Given the description of an element on the screen output the (x, y) to click on. 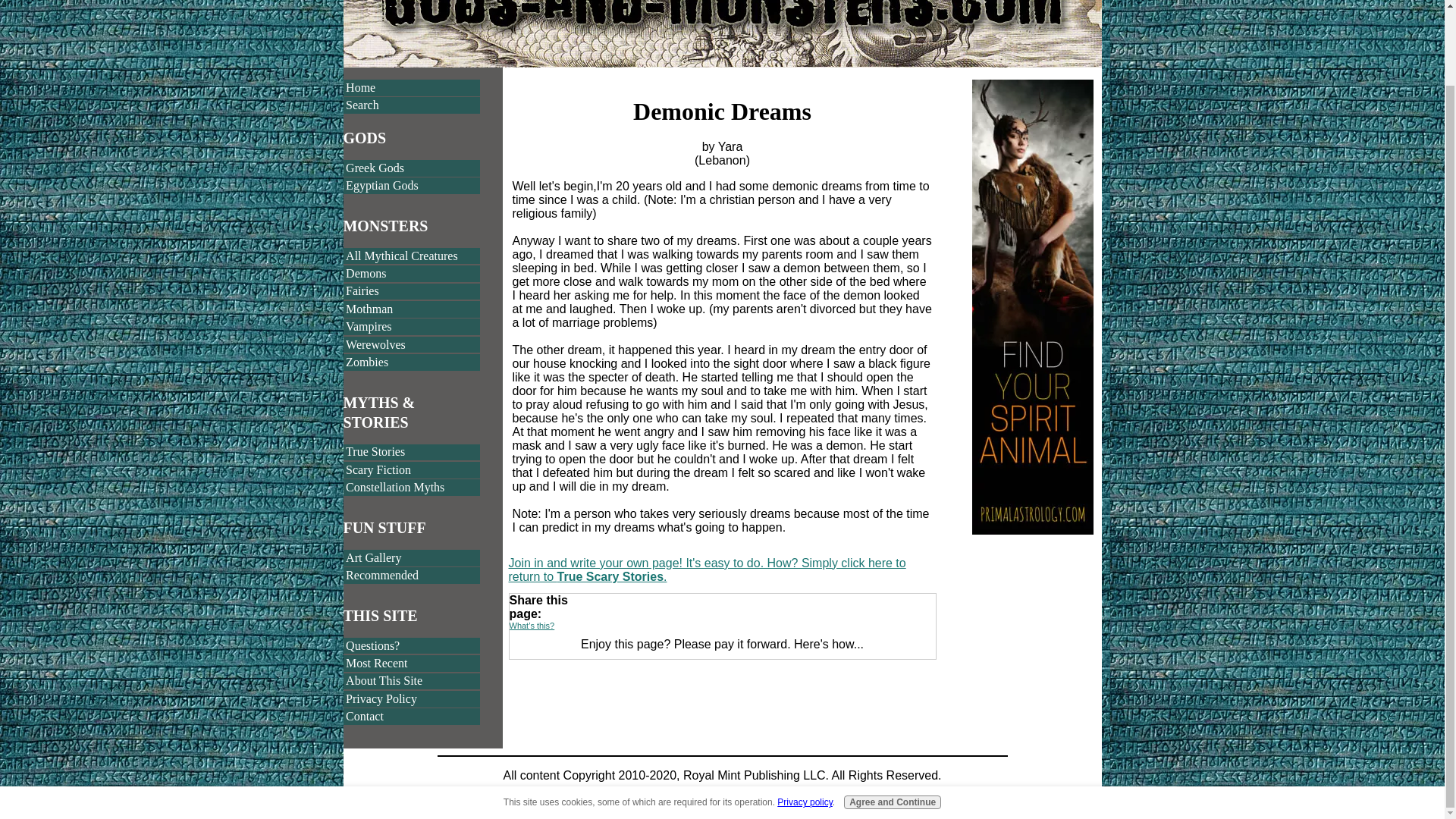
Werewolves (411, 344)
Demons (411, 273)
Constellation Myths (411, 487)
Art Gallery (411, 557)
True Stories (411, 452)
Vampires (411, 326)
Mothman (411, 309)
Scary Fiction (411, 469)
Home (411, 87)
